Given the description of an element on the screen output the (x, y) to click on. 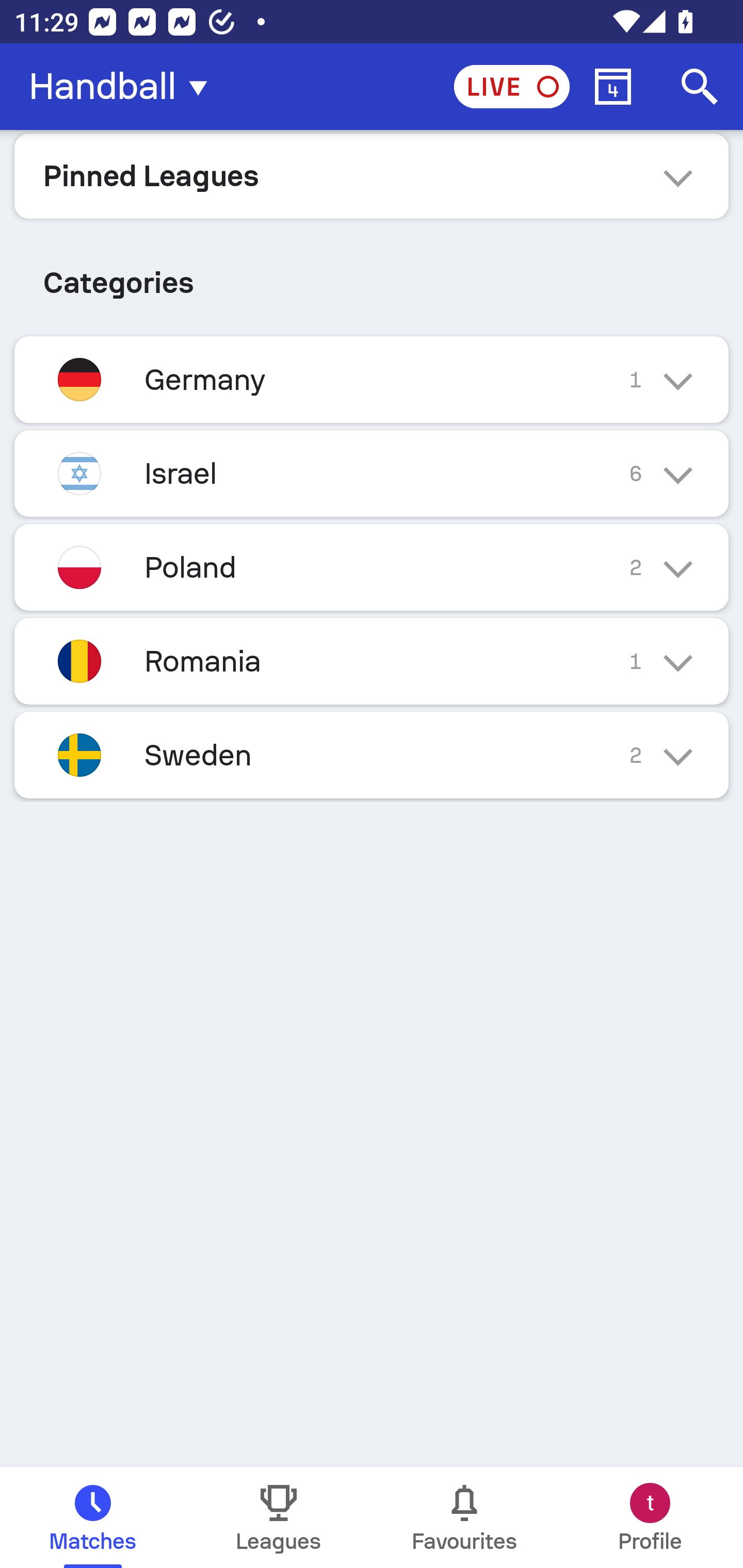
Handball (124, 86)
Calendar (612, 86)
Search (699, 86)
Pinned Leagues (371, 175)
Categories (371, 275)
Germany 1 (371, 379)
Israel 6 (371, 473)
Poland 2 (371, 566)
Romania 1 (371, 660)
Sweden 2 (371, 754)
Leagues (278, 1517)
Favourites (464, 1517)
Profile (650, 1517)
